Given the description of an element on the screen output the (x, y) to click on. 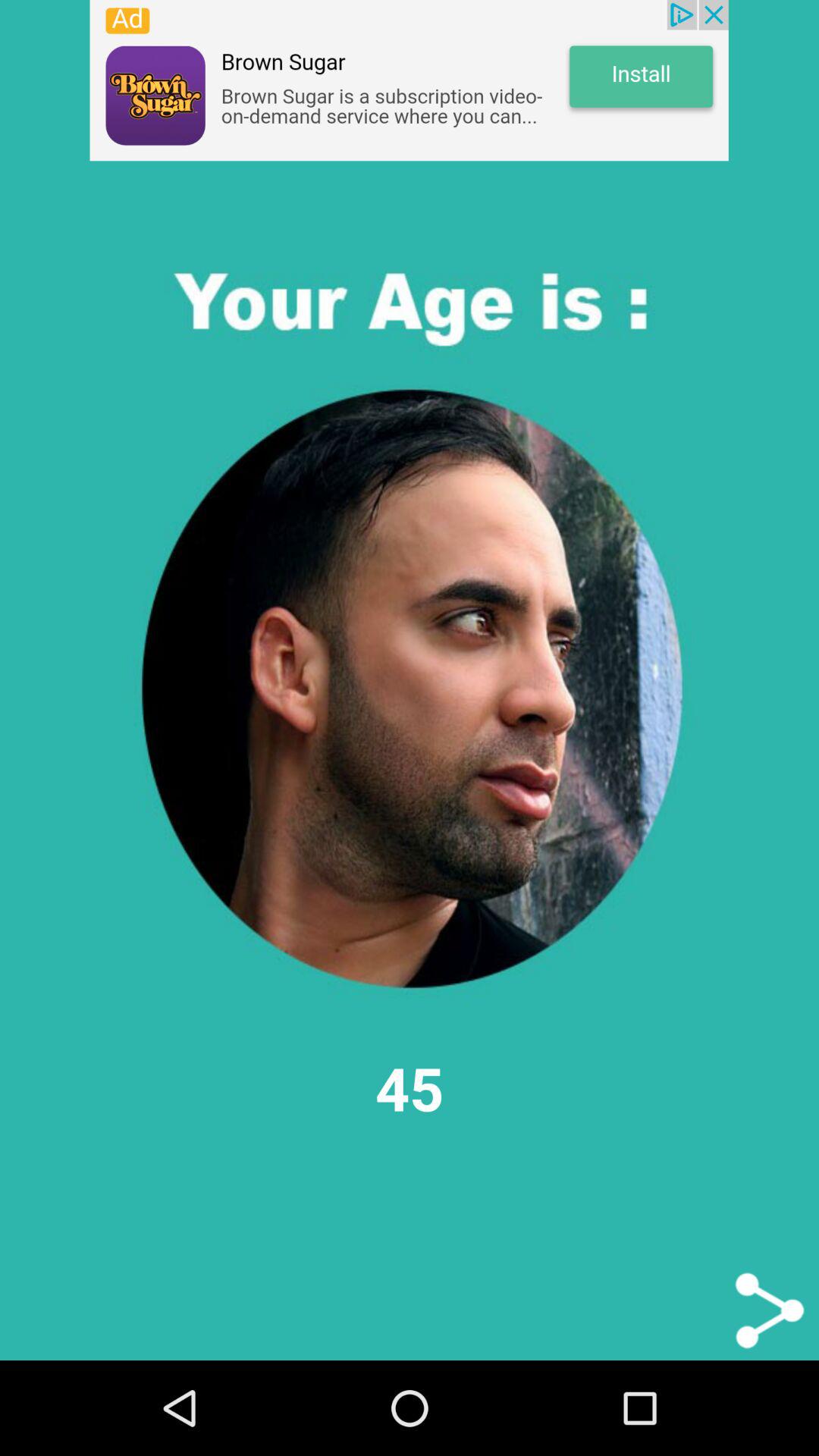
sharing options (769, 1310)
